Given the description of an element on the screen output the (x, y) to click on. 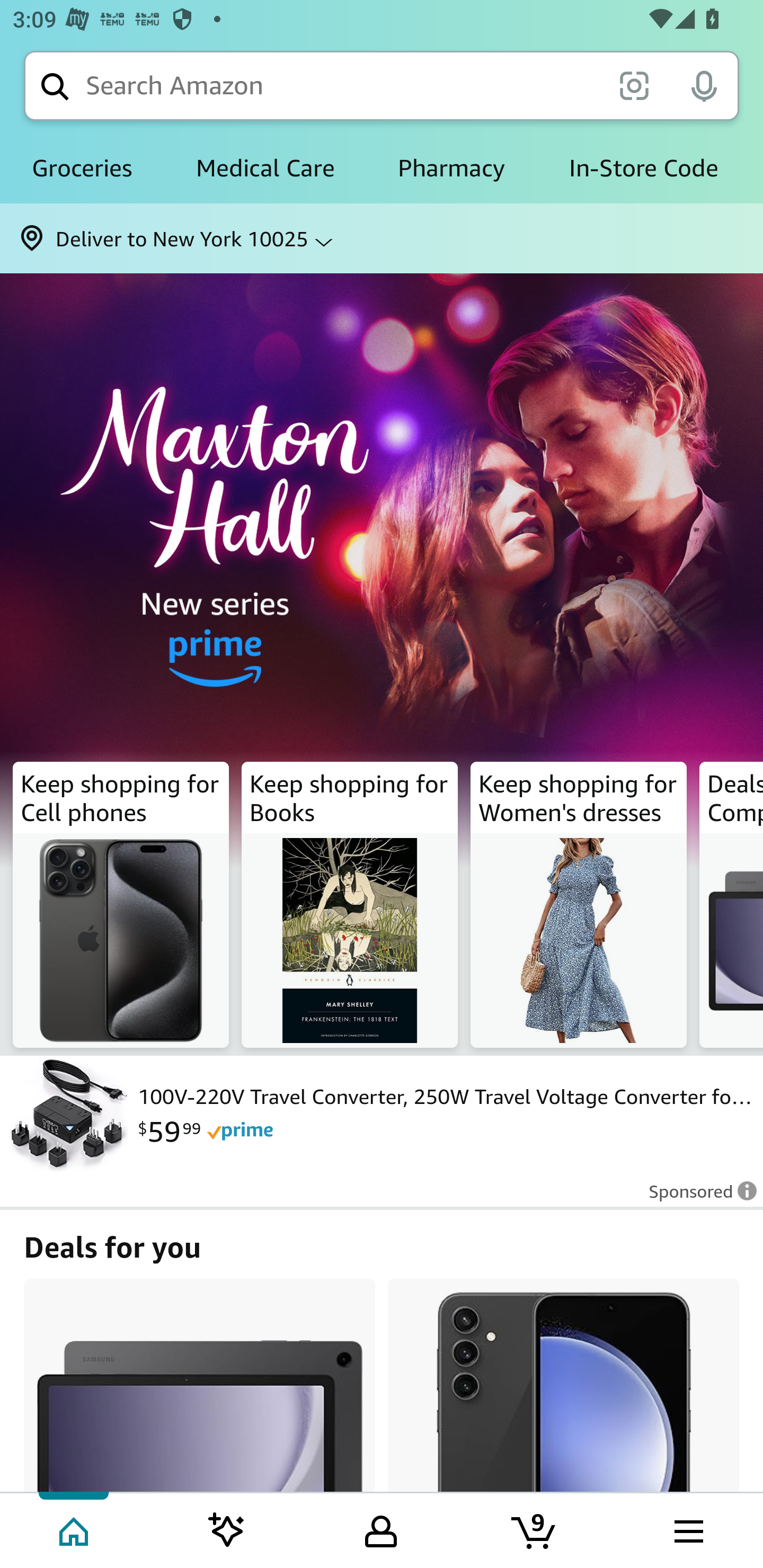
scan it (633, 85)
Groceries (82, 168)
Medical Care (265, 168)
Pharmacy (451, 168)
In-Store Code (643, 168)
Deliver to New York 10025 ⌵ (381, 237)
Keep shopping for Books Keep shopping for Books (349, 904)
Leave feedback on Sponsored ad Sponsored  (696, 1196)
Home Tab 1 of 5 (75, 1529)
Inspire feed Tab 2 of 5 (227, 1529)
Your Amazon.com Tab 3 of 5 (380, 1529)
Cart 9 items Tab 4 of 5 9 (534, 1529)
